Given the description of an element on the screen output the (x, y) to click on. 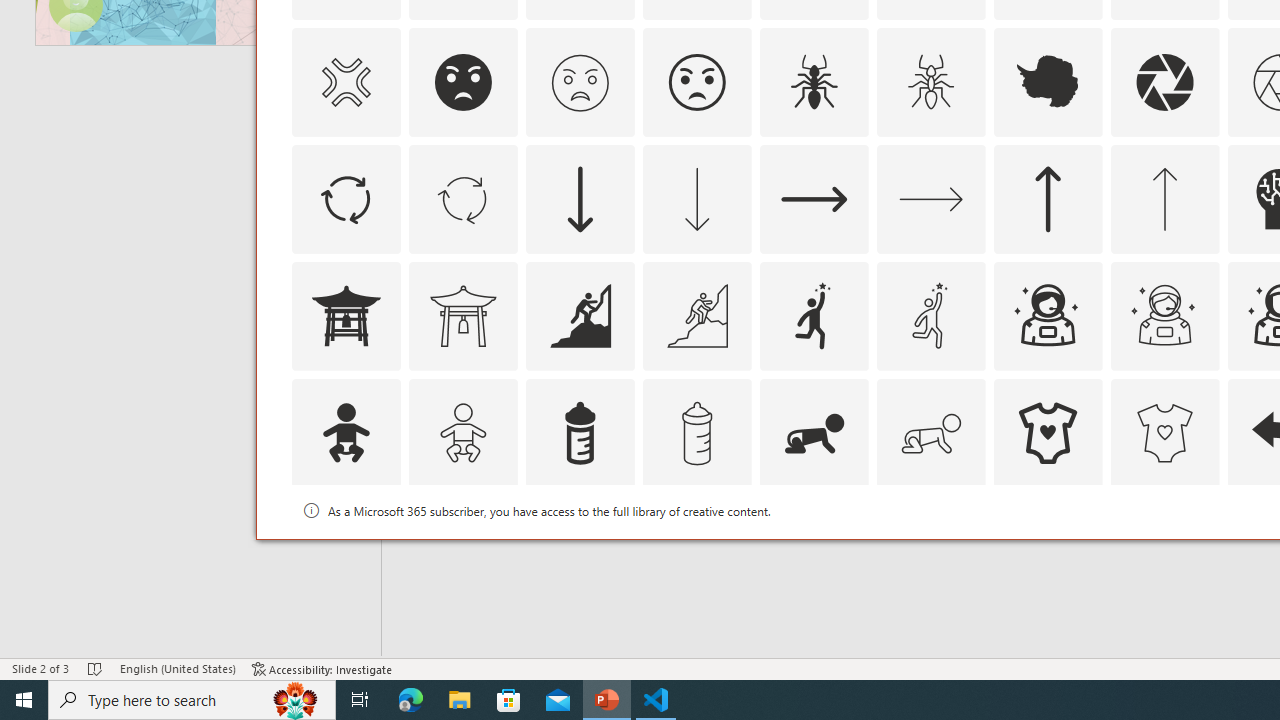
AutomationID: Icons_BabyBottle (579, 432)
AutomationID: Icons_ArrowCircle (345, 198)
AutomationID: Icons_Badge4_M (1048, 550)
AutomationID: Icons_AstronautFemale (1048, 316)
